Given the description of an element on the screen output the (x, y) to click on. 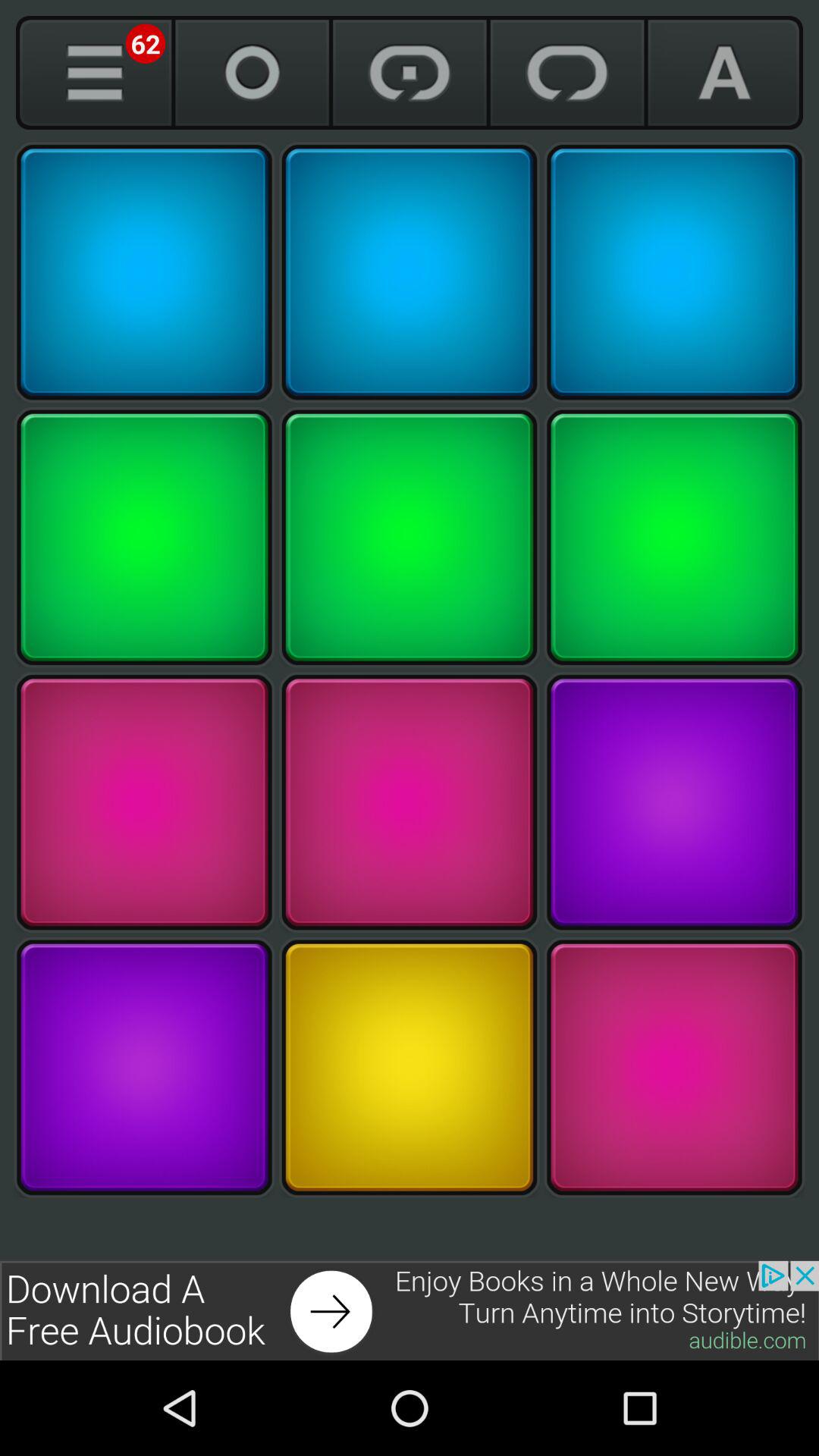
blue botton (674, 272)
